Given the description of an element on the screen output the (x, y) to click on. 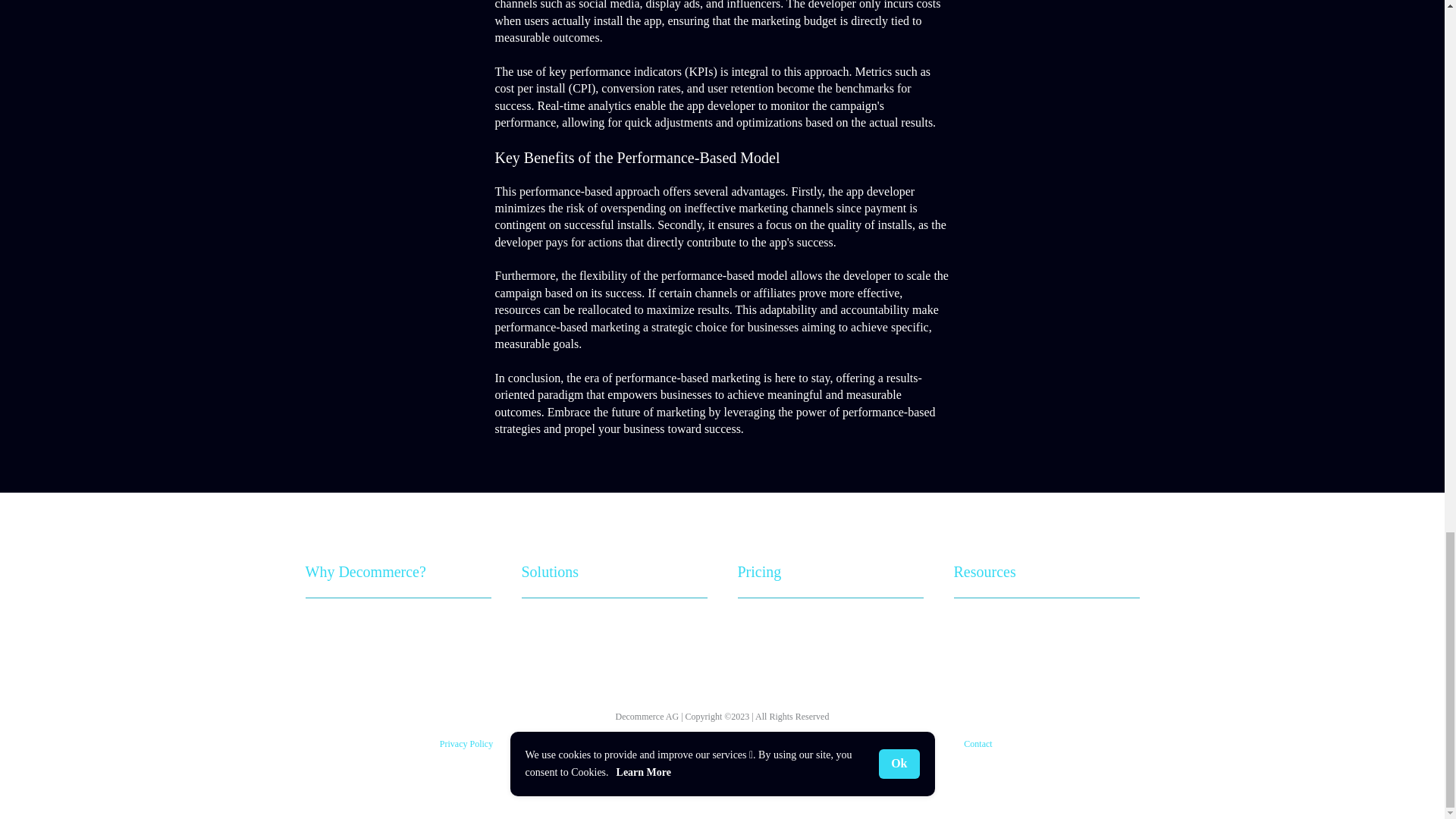
Solutions (550, 571)
Contact (977, 743)
Privacy Policy (466, 743)
Resources (984, 571)
Data Processing Addendum (807, 743)
Terms of Use (636, 743)
Pricing (758, 571)
Why Decommerce? (364, 571)
